Given the description of an element on the screen output the (x, y) to click on. 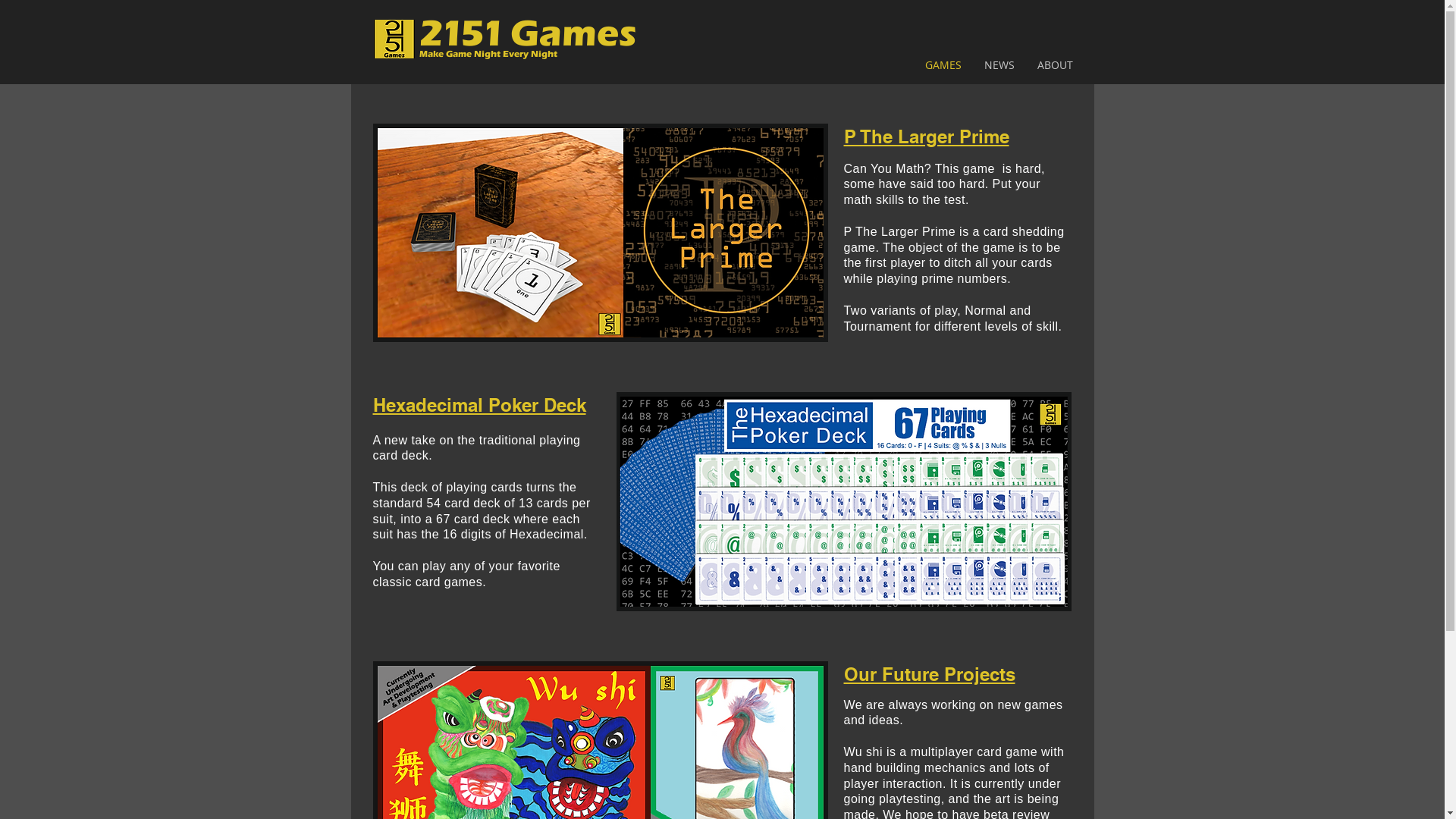
webbanner-hex2.png Element type: hover (842, 501)
NEWS Element type: text (998, 64)
webbanner.png Element type: hover (600, 232)
ABOUT Element type: text (1054, 64)
P The Larger Prime Element type: text (925, 136)
Hexadecimal Poker Deck Element type: text (479, 404)
2151 Games Element type: text (527, 33)
GAMES Element type: text (942, 64)
